Given the description of an element on the screen output the (x, y) to click on. 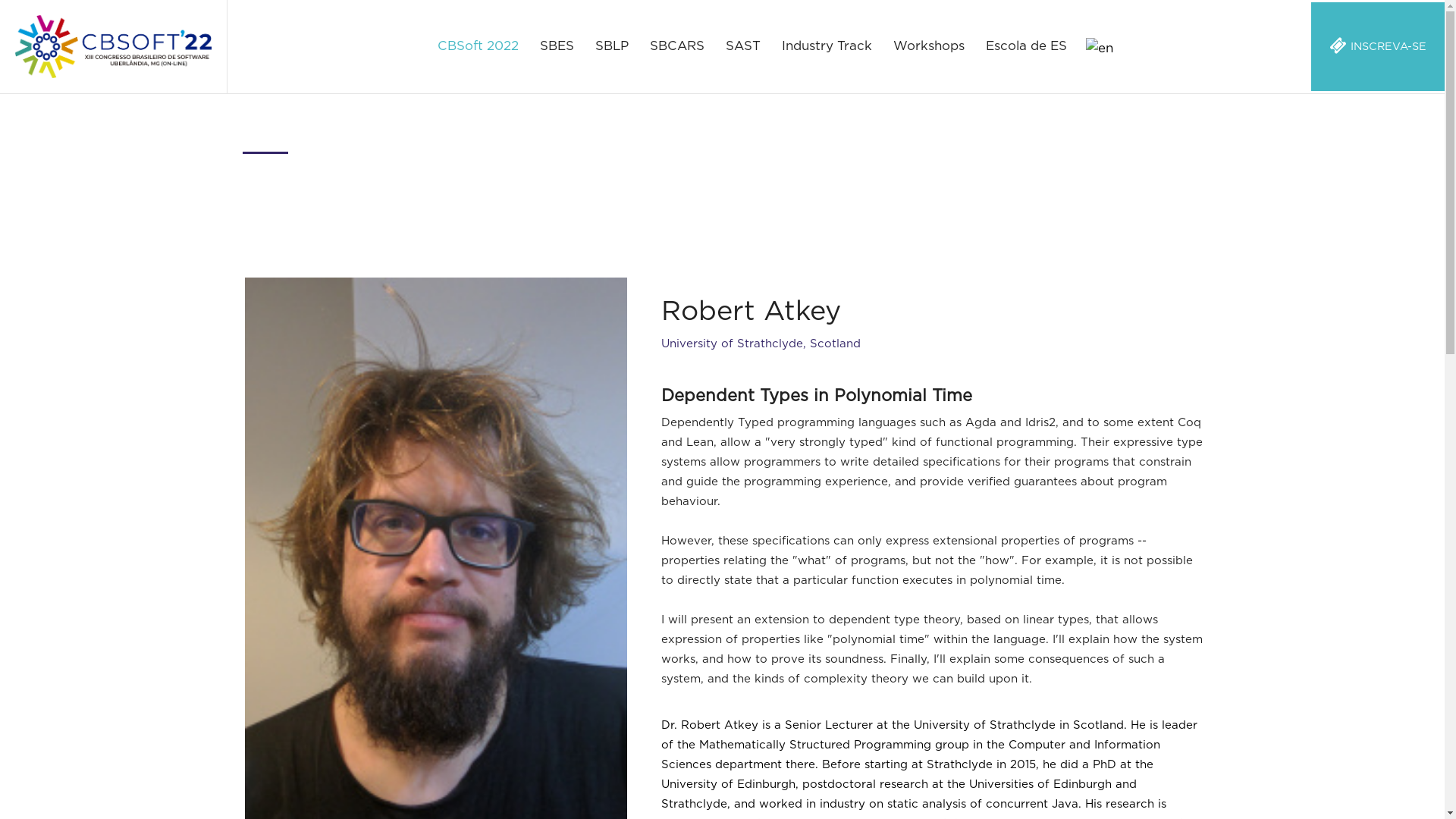
SBLP Element type: text (615, 46)
INSCREVA-SE Element type: text (1377, 46)
SBCARS Element type: text (680, 46)
Workshops Element type: text (933, 46)
SAST Element type: text (746, 46)
Industry Track Element type: text (830, 46)
Escola de ES Element type: text (1030, 46)
SBES Element type: text (561, 46)
CBSoft 2022 Element type: text (481, 46)
